Given the description of an element on the screen output the (x, y) to click on. 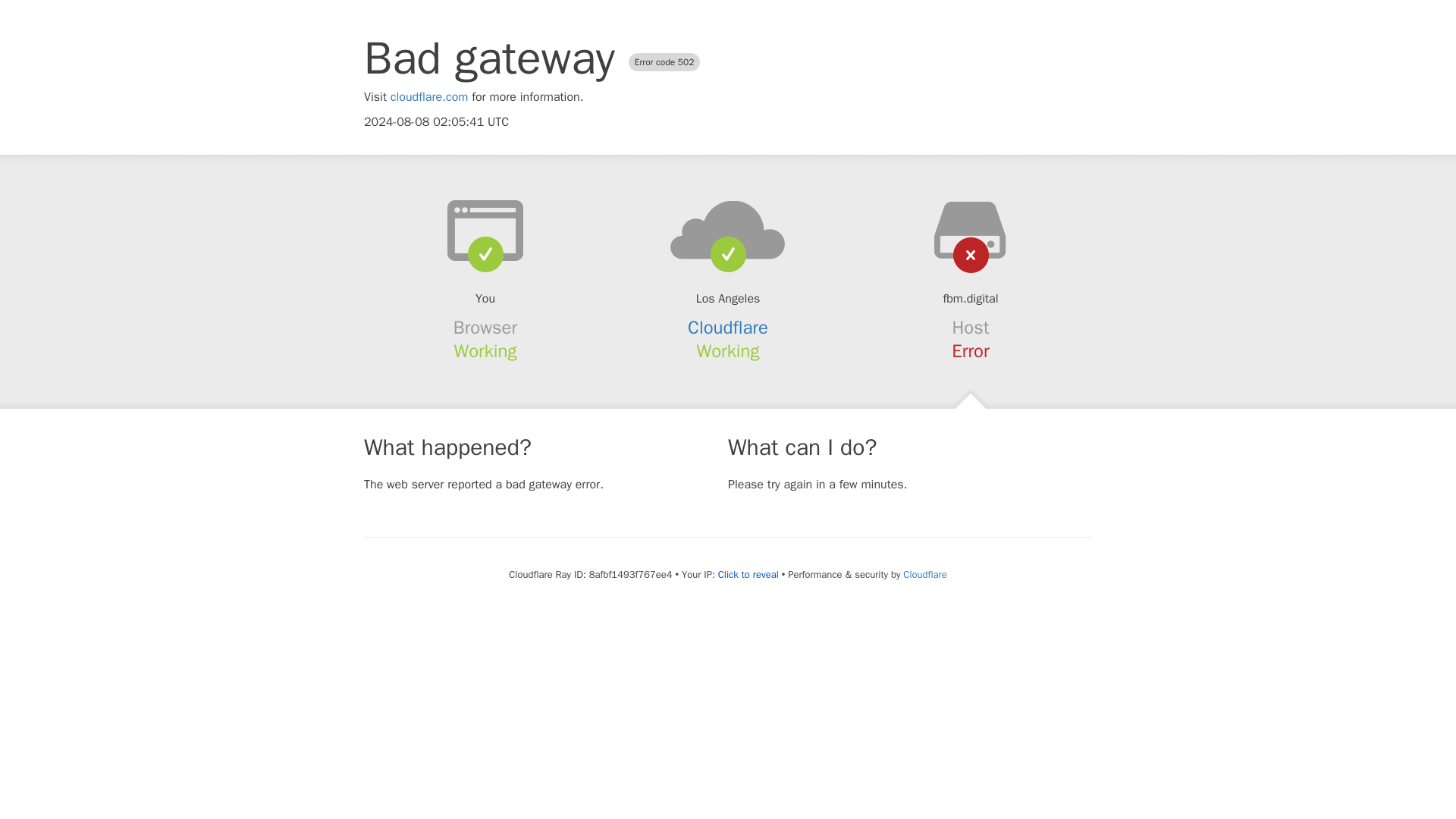
Click to reveal (747, 574)
Cloudflare (727, 327)
cloudflare.com (429, 96)
Cloudflare (924, 574)
